Given the description of an element on the screen output the (x, y) to click on. 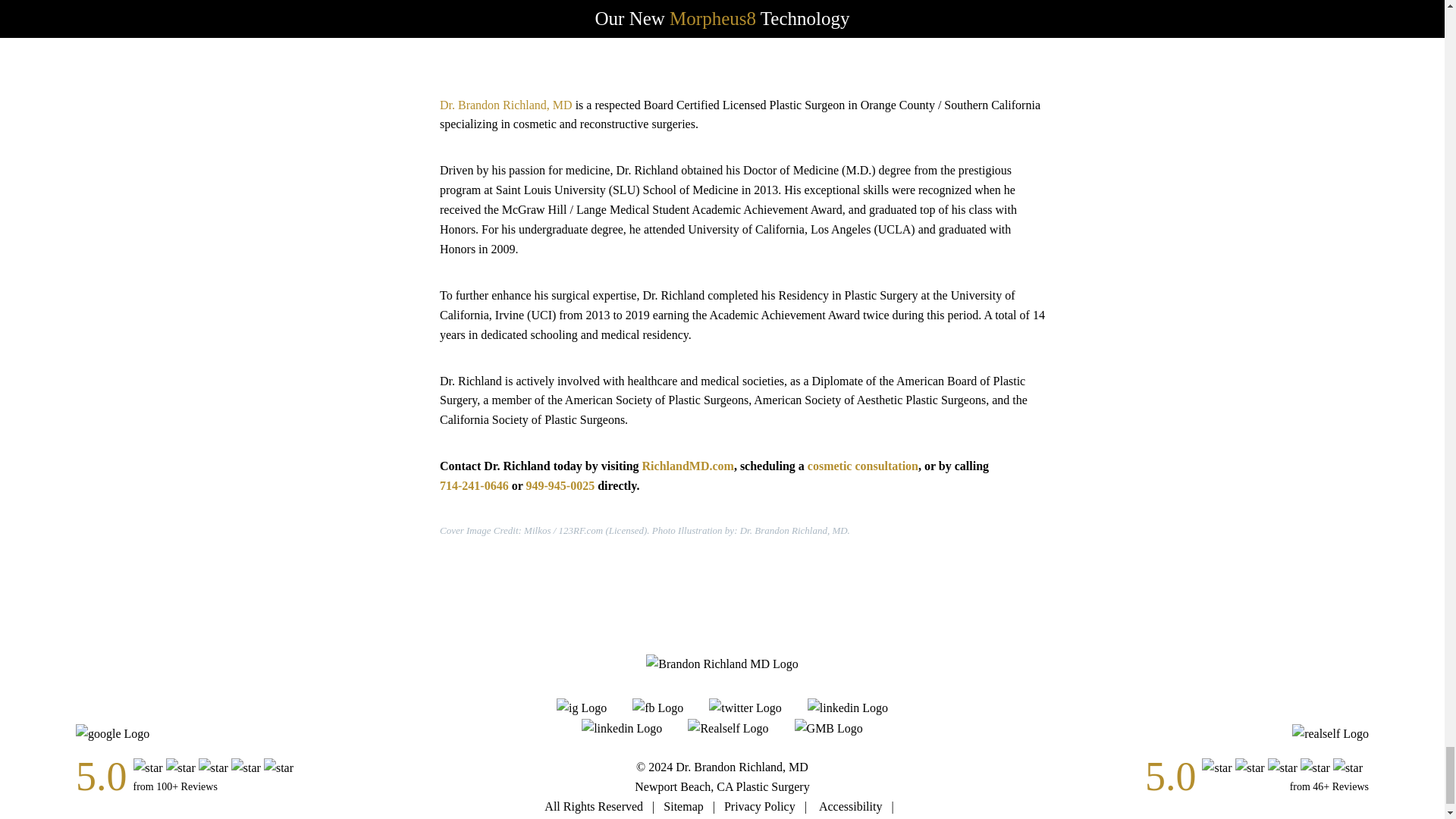
Newport Beach, CA Plastic Surgery (721, 786)
